Given the description of an element on the screen output the (x, y) to click on. 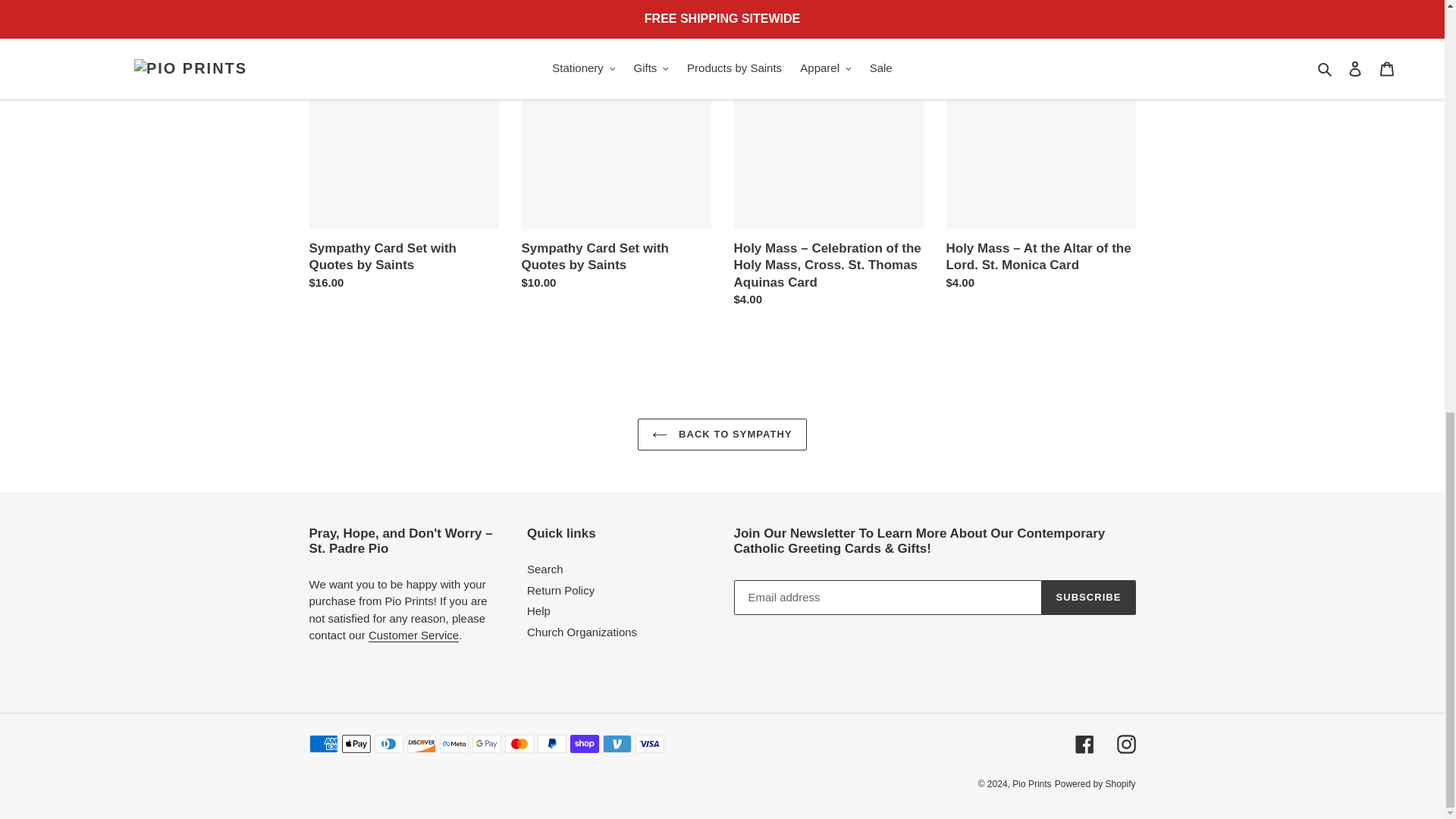
Google Pay (485, 743)
Shop Pay (584, 743)
Venmo (616, 743)
Discover (420, 743)
American Express (322, 743)
Diners Club (388, 743)
Apple Pay (354, 743)
Return Policy (413, 635)
Mastercard (519, 743)
PayPal (551, 743)
Meta Pay (453, 743)
